Given the description of an element on the screen output the (x, y) to click on. 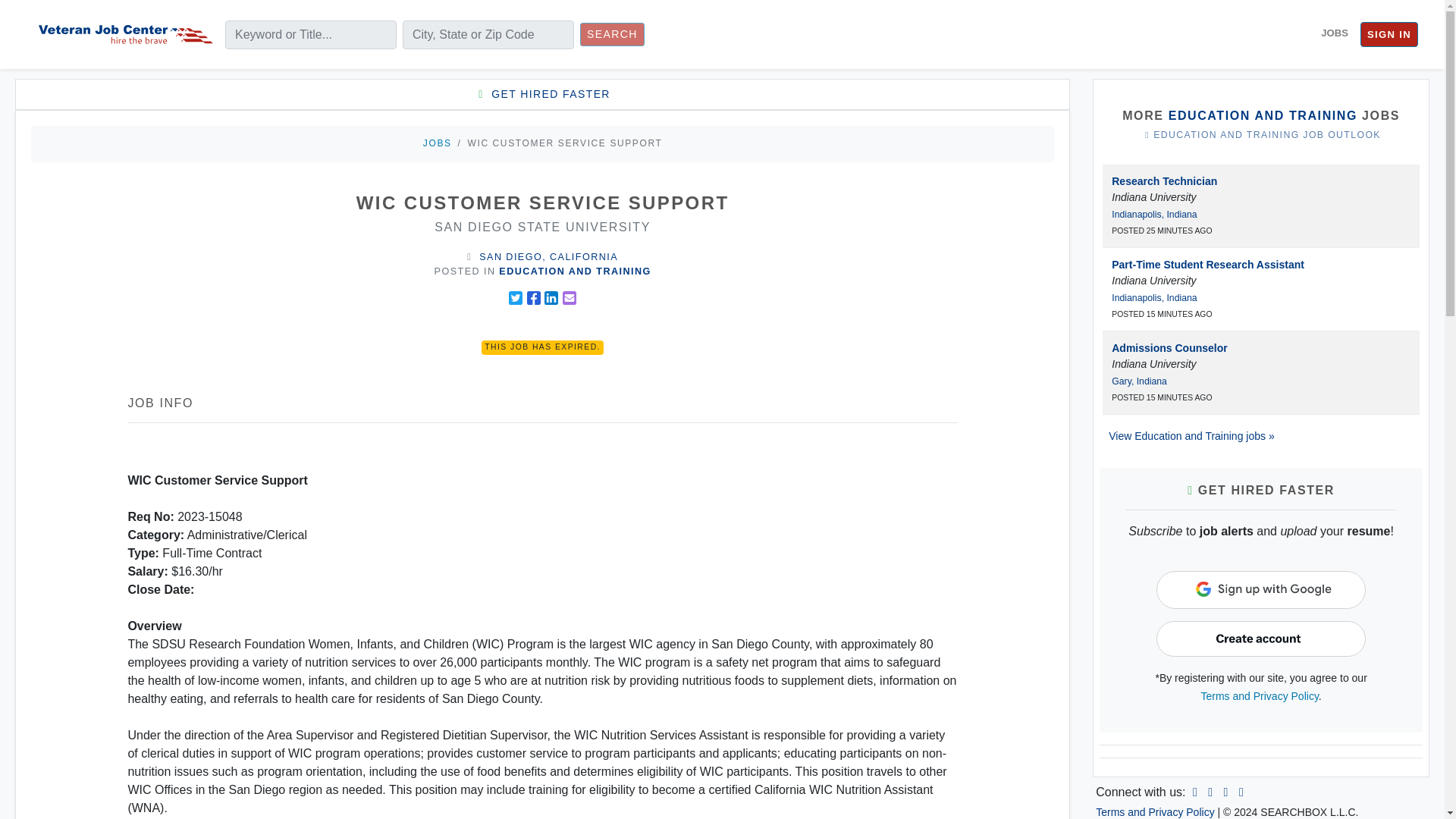
Indianapolis, Indiana (1154, 297)
EDUCATION AND TRAINING JOB OUTLOOK (1260, 134)
Gary, Indiana (1139, 380)
Share to Twitter (515, 297)
Email Veteran Job Center (1240, 791)
Link to Facebook (1209, 791)
Share to Facebook (533, 297)
Link to LinkedIn (1195, 791)
Link to Twitter (1225, 791)
Research Technician (1164, 181)
JOBS (1334, 33)
SIGN IN (1388, 34)
SEARCH (612, 33)
Terms and Privacy Policy (1260, 695)
Share to Email (569, 297)
